Given the description of an element on the screen output the (x, y) to click on. 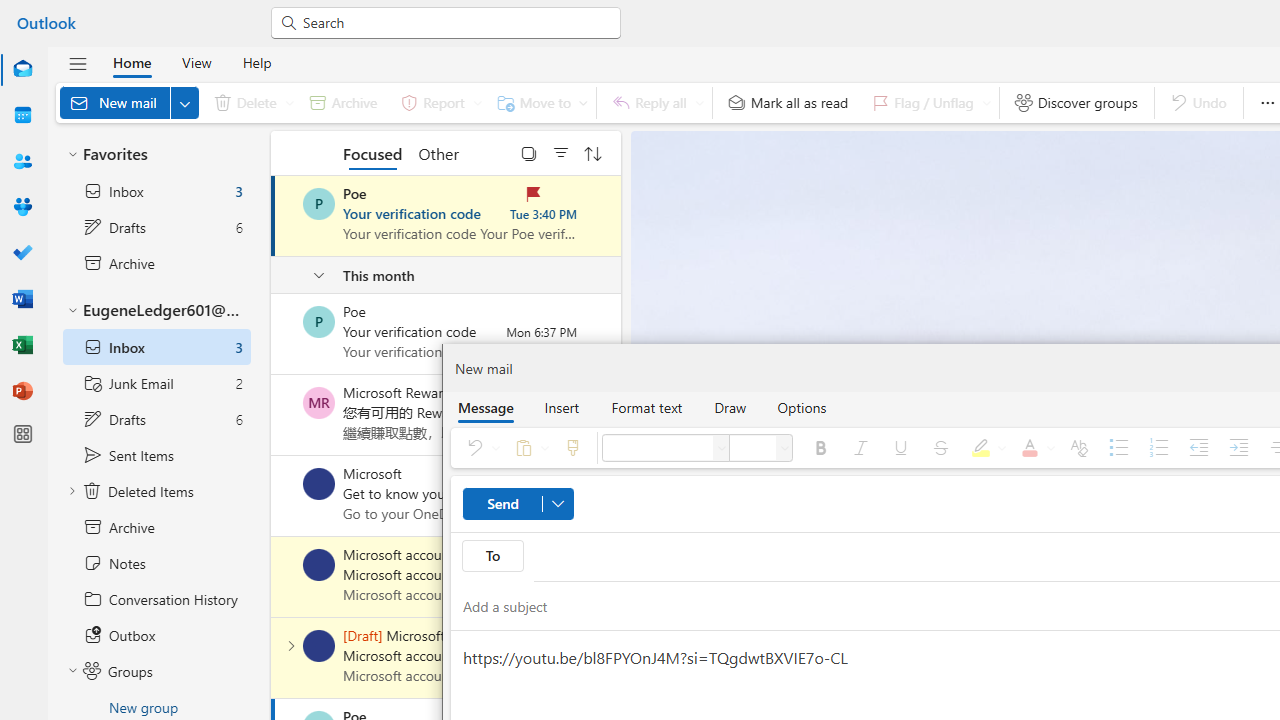
More apps (22, 434)
Word (22, 299)
Increase indent (1238, 447)
Expand to see more New options (184, 102)
Microsoft account team (319, 645)
PowerPoint (22, 391)
Decrease indent (1198, 447)
More send options (557, 503)
Draw (729, 407)
Font color (1033, 447)
Archive (343, 102)
Groups (22, 207)
To Do (22, 252)
Expand to see delete options (289, 102)
Paste (528, 447)
